Given the description of an element on the screen output the (x, y) to click on. 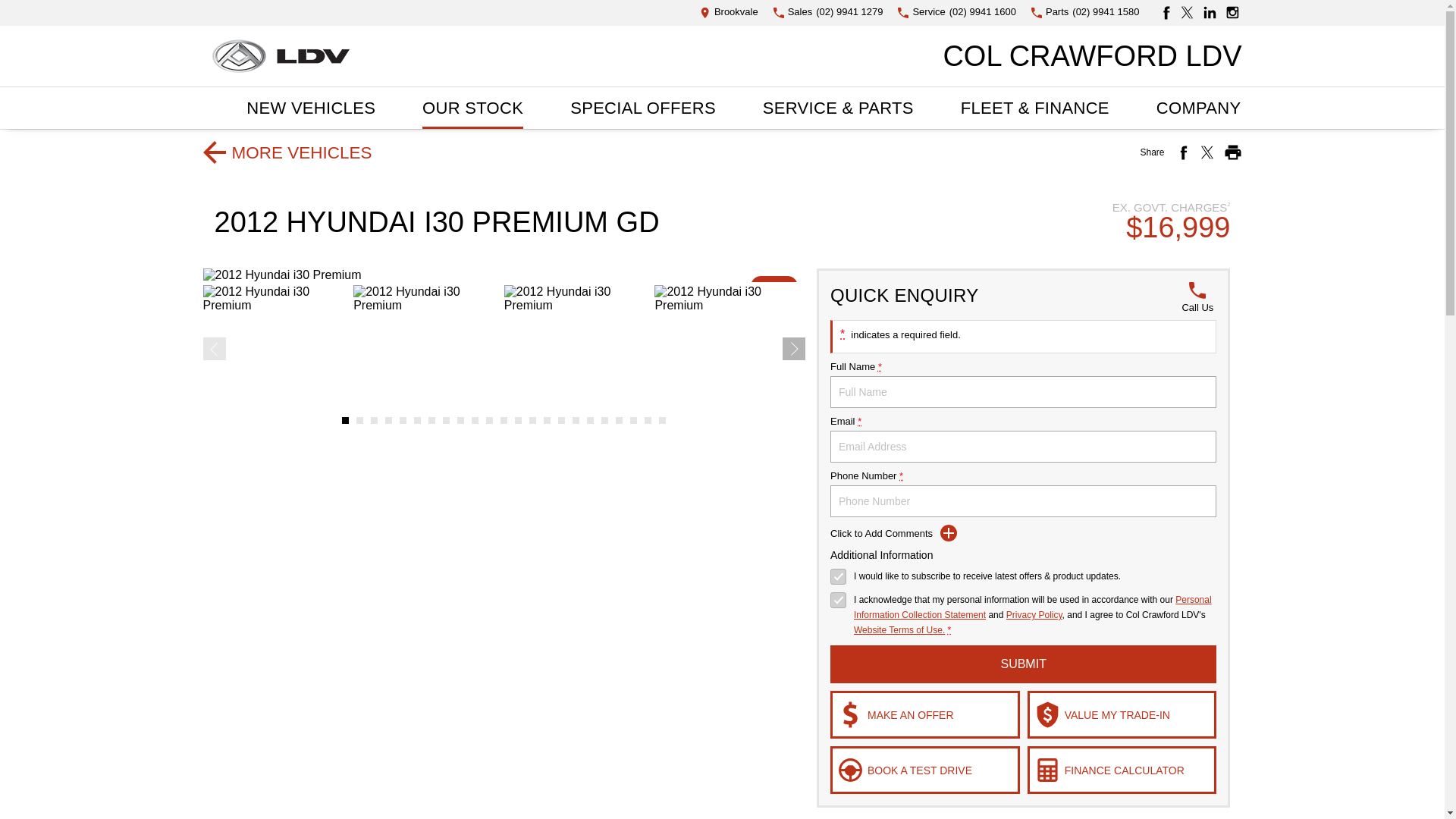
COL CRAWFORD LDV (1091, 55)
SPECIAL OFFERS (642, 107)
OUR STOCK (472, 107)
NEW VEHICLES (310, 107)
on (837, 600)
Brookvale (729, 12)
on (837, 576)
